Given the description of an element on the screen output the (x, y) to click on. 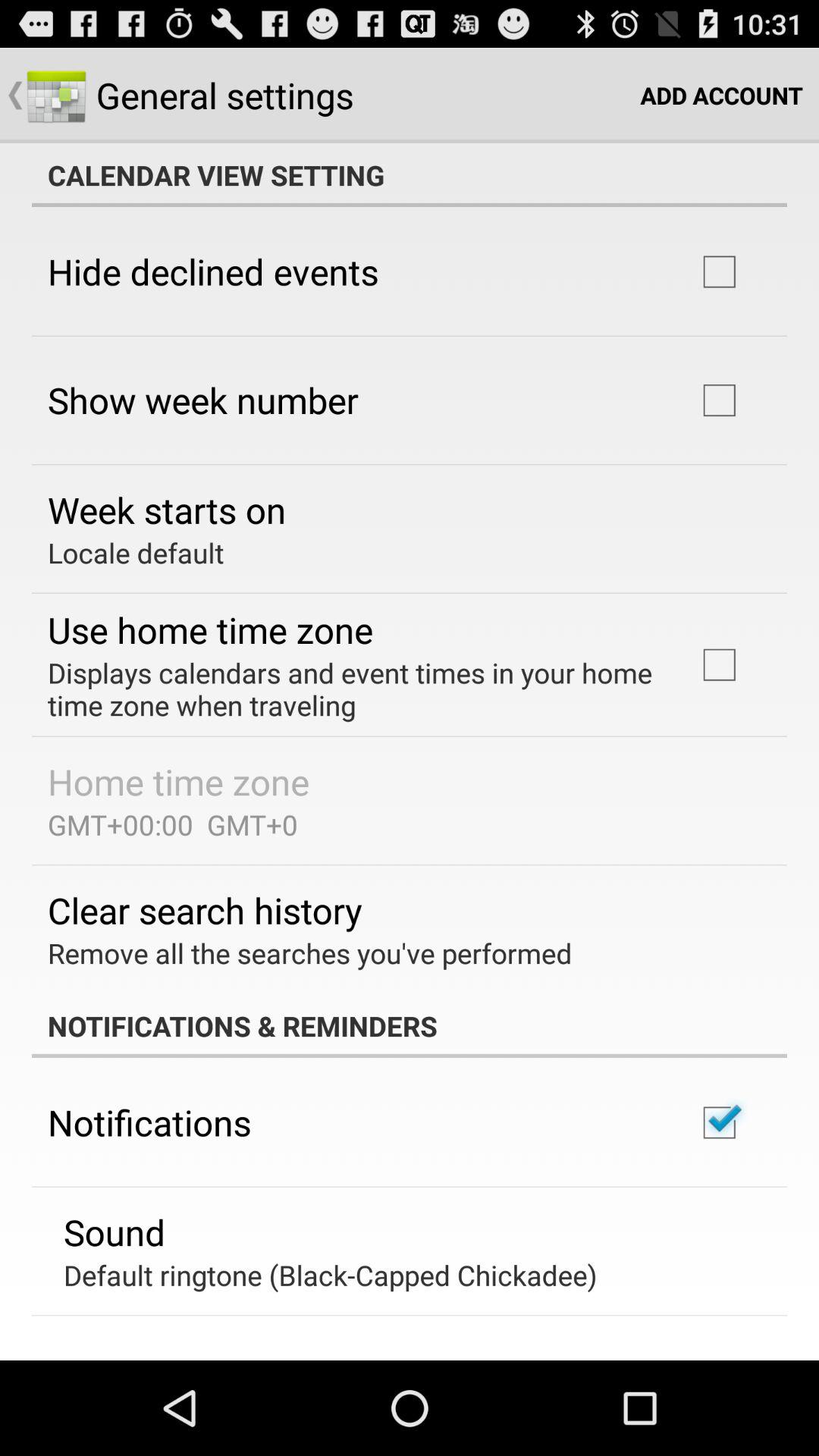
click app below the remove all the app (409, 1025)
